Given the description of an element on the screen output the (x, y) to click on. 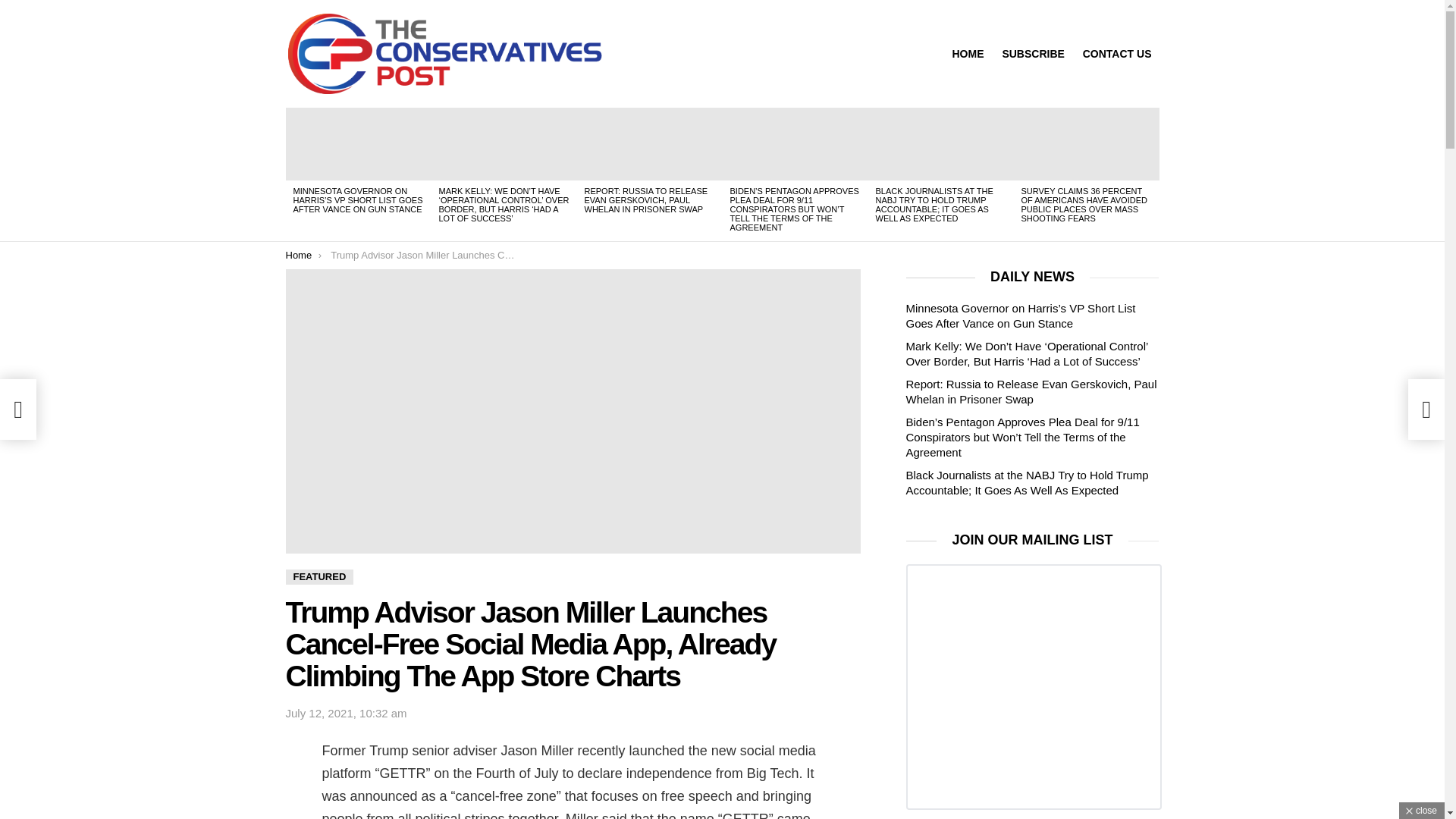
Home (298, 255)
HOME (967, 53)
FEATURED (319, 576)
CONTACT US (1116, 53)
